Given the description of an element on the screen output the (x, y) to click on. 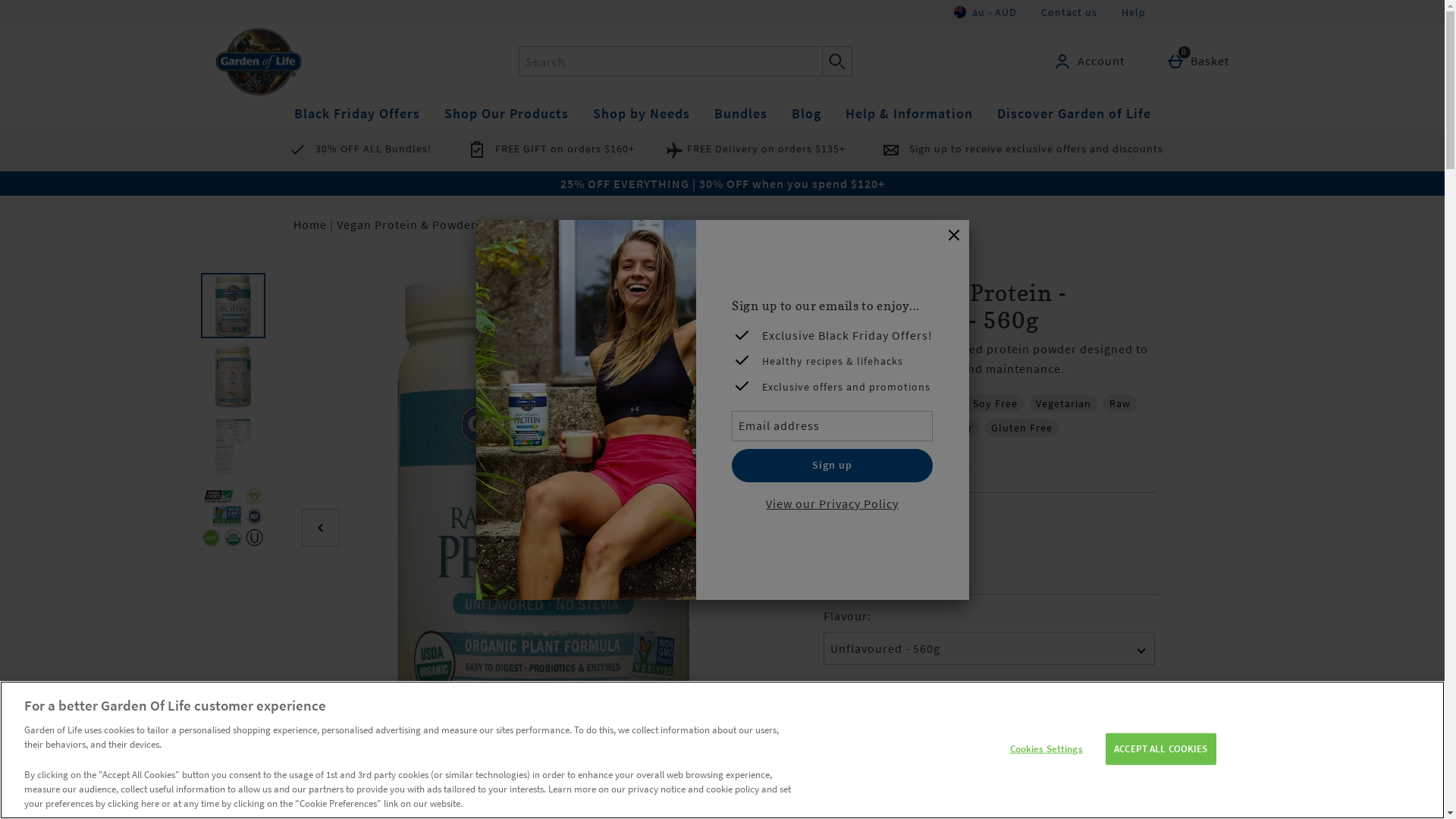
Help Element type: text (1132, 12)
Contact us Element type: text (1068, 12)
Skip to main content Element type: text (60, 9)
Close Element type: hover (953, 235)
Discover Garden of Life Element type: text (1073, 112)
2 Reviews
, See all reviews Element type: text (988, 462)
Quantity Element type: hover (879, 737)
Bundles Element type: text (740, 112)
Add to bag Element type: text (1074, 736)
30% OFF ALL Bundles! Element type: text (356, 148)
Save to Wishlist Element type: text (887, 787)
25% OFF EVERYTHING | 30% OFF when you spend $120+ Element type: text (722, 183)
View our Privacy Policy Element type: text (831, 503)
Account Element type: text (1090, 61)
Shop Our Products Element type: text (506, 112)
Open image 2 - Raw Organic Protein - Unflavoured - 560g Element type: hover (232, 376)
Cookies Settings Element type: text (1045, 749)
au - AUD Element type: text (985, 12)
ACCEPT ALL COOKIES Element type: text (1160, 749)
0
Basket Element type: text (1200, 61)
Black Friday Offers Element type: text (357, 112)
Start search Element type: hover (837, 61)
Help & Information Element type: text (908, 112)
Open image 3 - Raw Organic Protein - Unflavoured - 560g Element type: hover (232, 446)
Sign up Element type: text (831, 465)
Vegan Protein & Powders Element type: text (409, 224)
Open image 1 - Raw Organic Protein - Unflavoured - 560g Element type: hover (232, 305)
Open image 4 - Raw Organic Protein - Unflavoured - 560g Element type: hover (232, 517)
FREE Delivery on orders $135+ Element type: text (754, 148)
Email address Element type: hover (831, 426)
Increase quantity Element type: hover (919, 737)
Home Element type: text (309, 224)
Zoom Element type: hover (771, 754)
Shop by Needs Element type: text (641, 112)
Blog Element type: text (806, 112)
Decrease quantity Element type: hover (839, 737)
FREE GIFT on orders $160+ Element type: text (547, 148)
Previous image Element type: hover (320, 527)
Next image Element type: hover (768, 527)
Sign up to receive exclusive offers and discounts Element type: text (1018, 148)
